Given the description of an element on the screen output the (x, y) to click on. 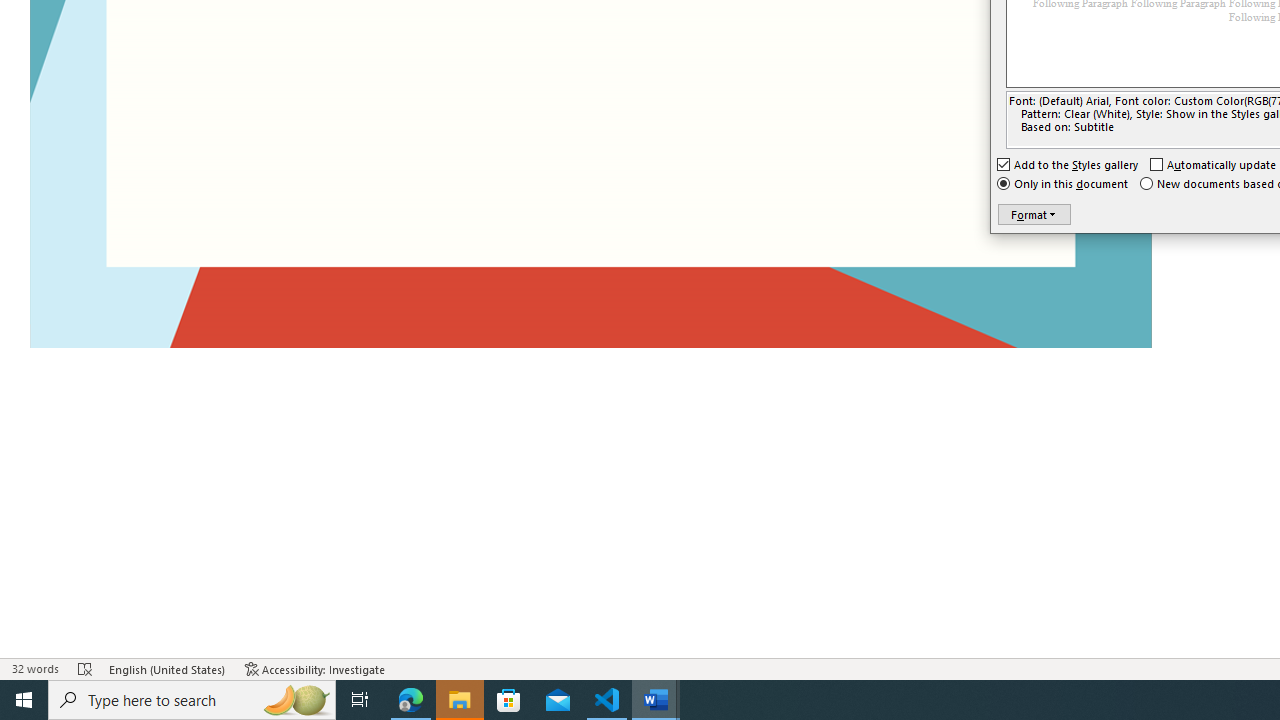
Add to the Styles gallery (1068, 164)
Format (1034, 214)
Search highlights icon opens search home window (295, 699)
Microsoft Edge - 1 running window (411, 699)
